Given the description of an element on the screen output the (x, y) to click on. 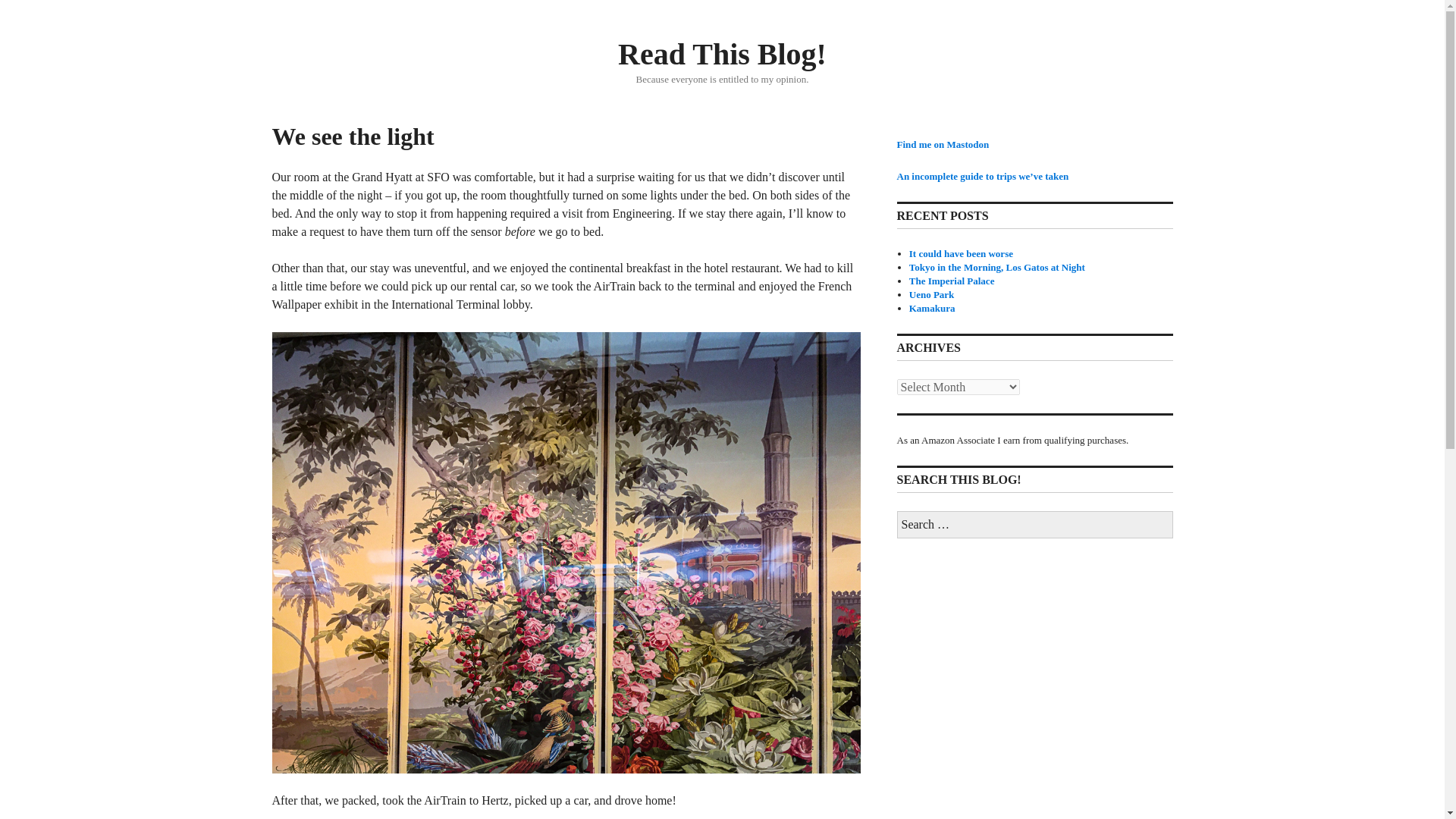
Tokyo in the Morning, Los Gatos at Night (996, 266)
Read This Blog! (722, 53)
Find me on Mastodon (942, 143)
Ueno Park (931, 294)
Search (8, 4)
Kamakura (931, 307)
It could have been worse (960, 253)
The Imperial Palace (951, 280)
